Given the description of an element on the screen output the (x, y) to click on. 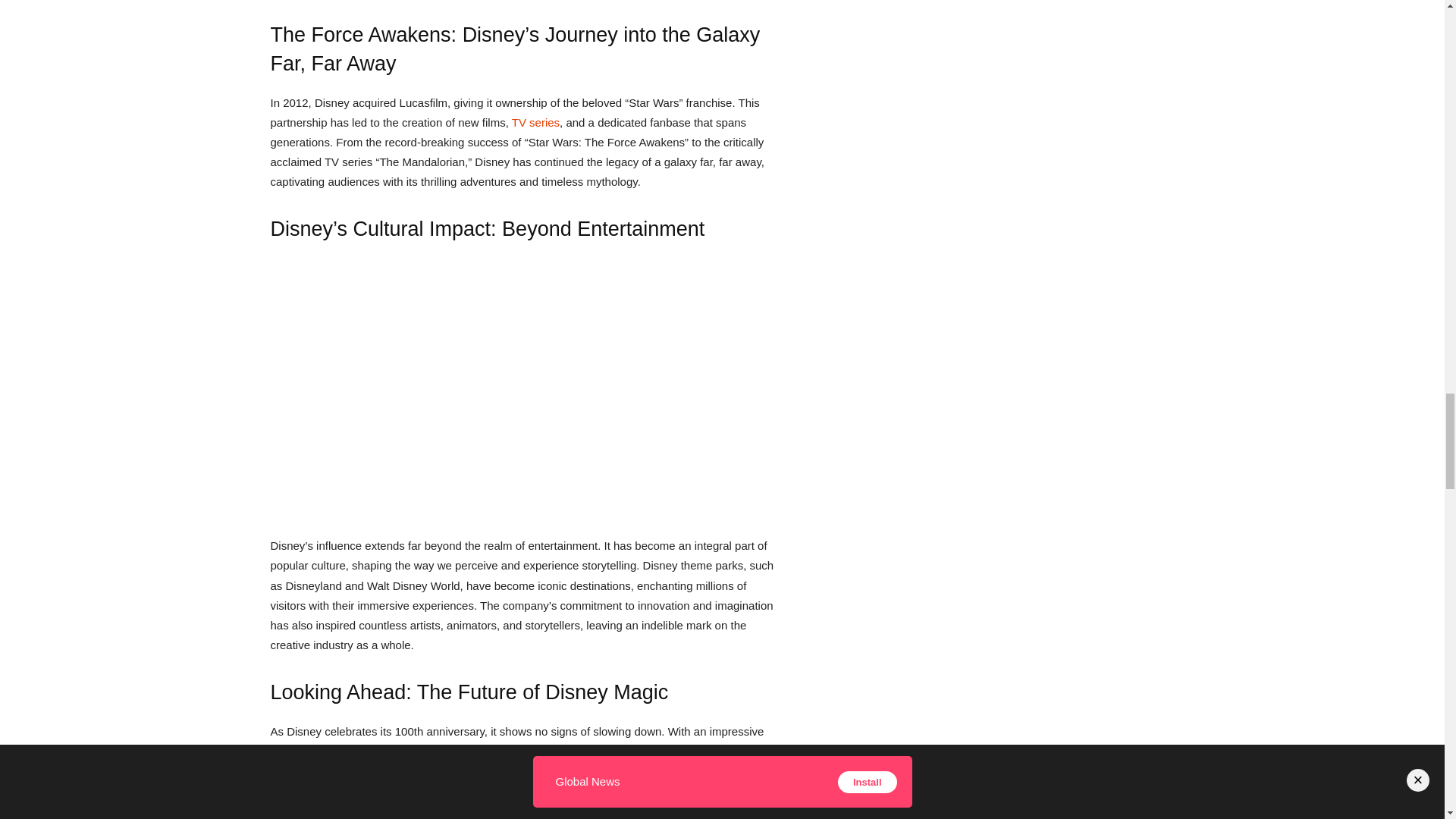
Disneys-Cultural-Impact - KumDi.com Global Live News (515, 389)
